Given the description of an element on the screen output the (x, y) to click on. 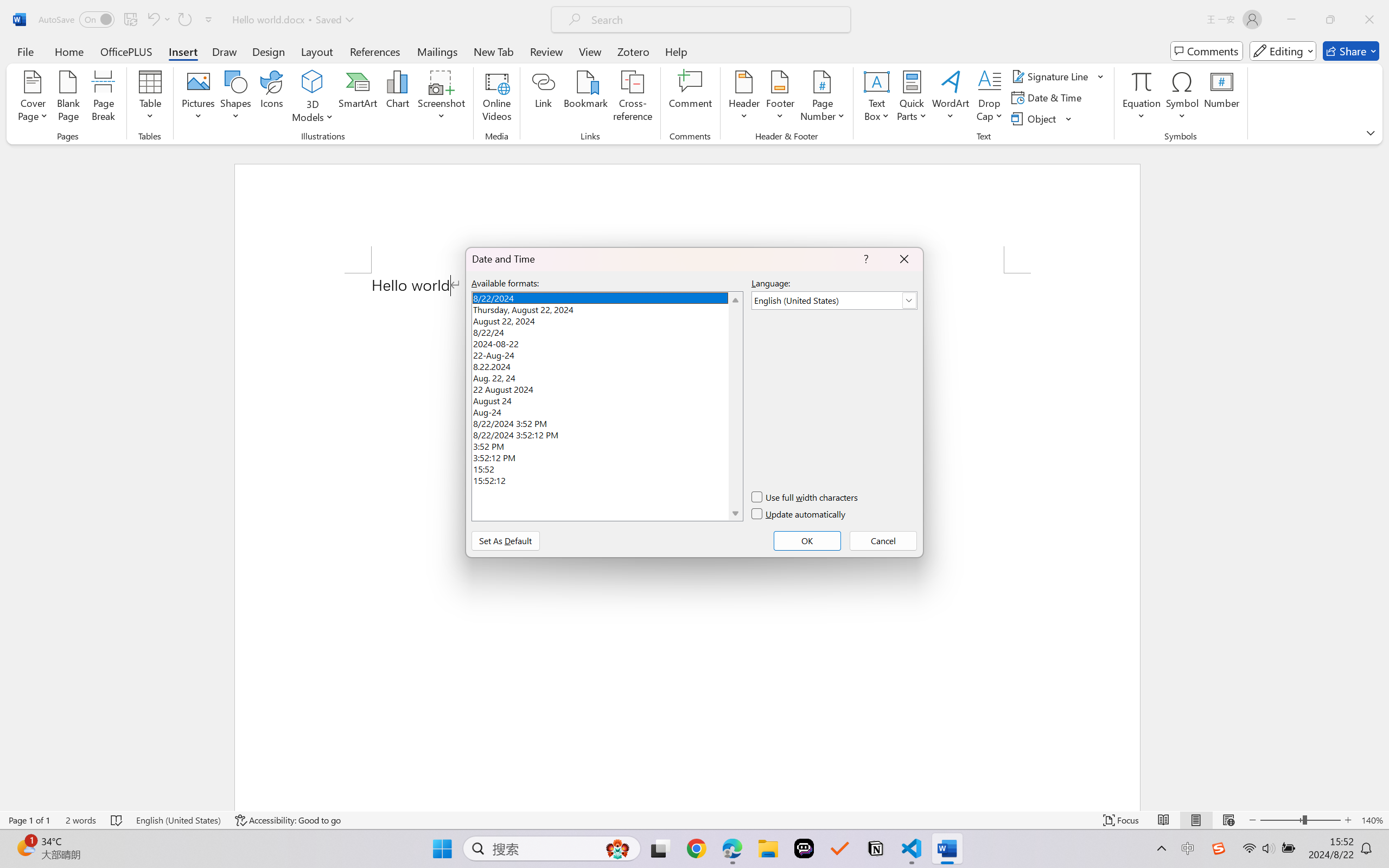
Thesaurus... (45, 62)
Show Changes (347, 62)
Delete (413, 62)
New Comment (385, 62)
